Given the description of an element on the screen output the (x, y) to click on. 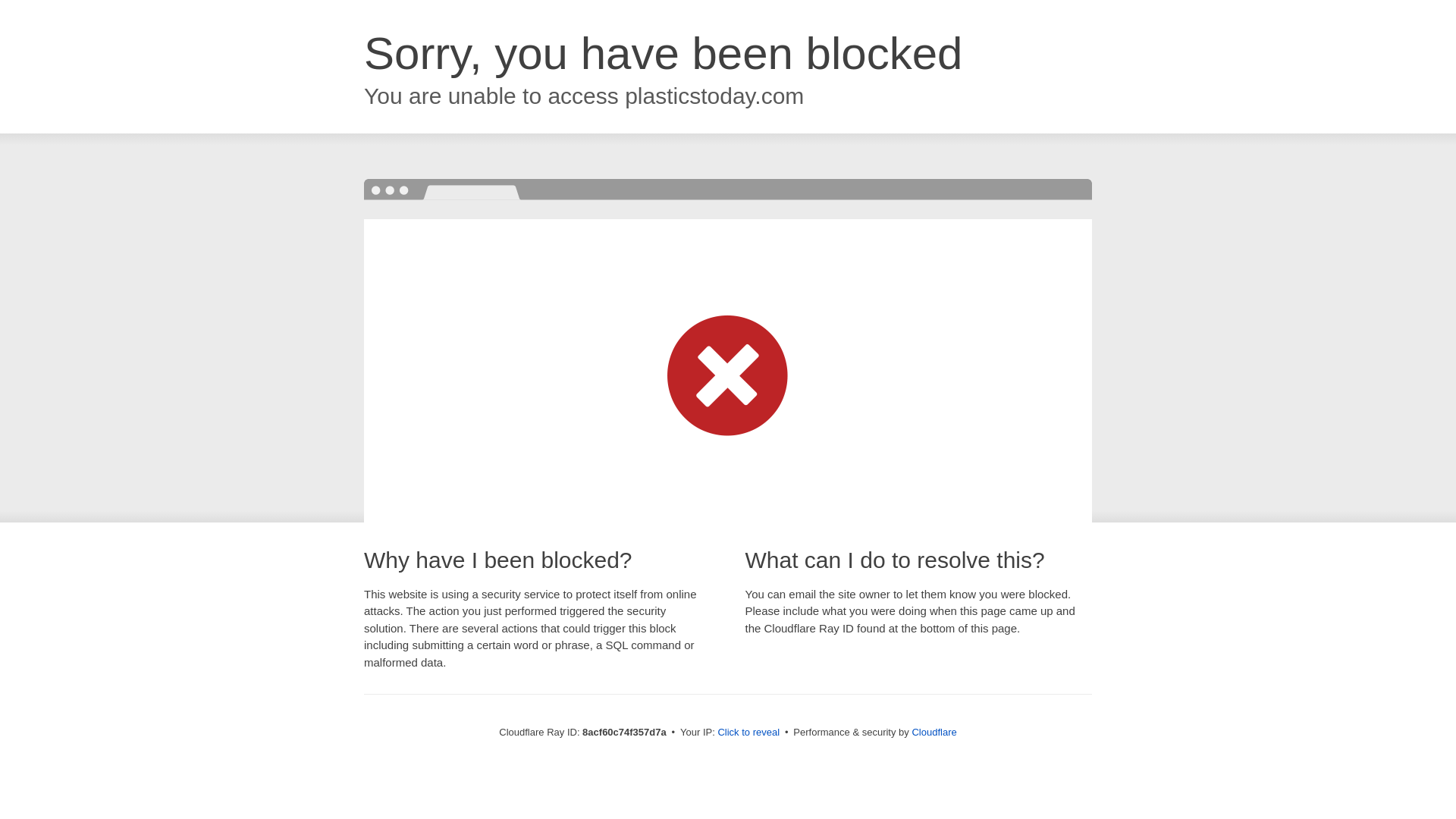
Click to reveal (747, 732)
Cloudflare (933, 731)
